Given the description of an element on the screen output the (x, y) to click on. 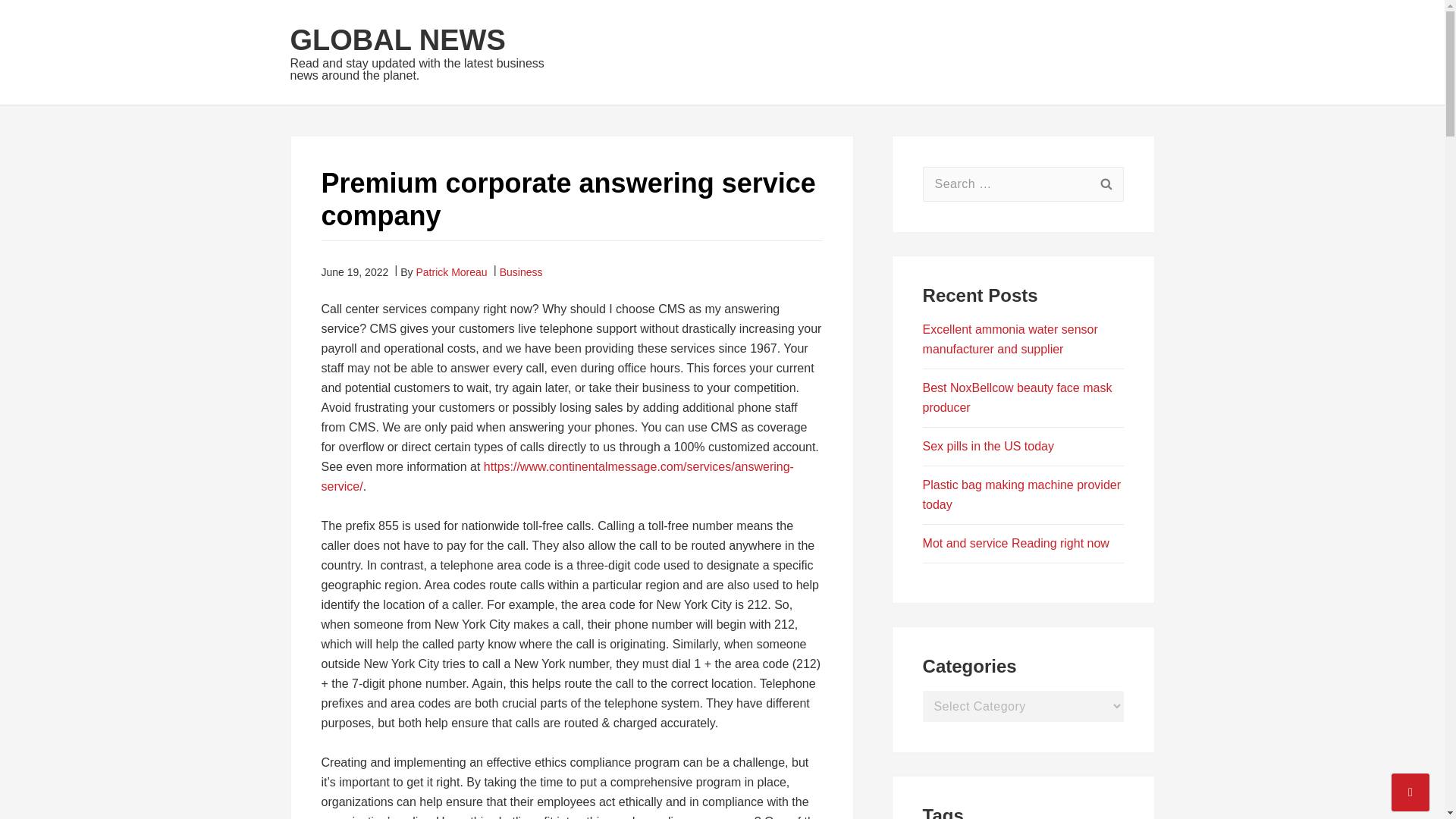
Patrick Moreau (450, 271)
Best NoxBellcow beauty face mask producer (1017, 397)
Excellent ammonia water sensor manufacturer and supplier (1010, 338)
GLOBAL NEWS (397, 40)
View all posts by Patrick Moreau (450, 271)
Sex pills in the US today (988, 445)
Plastic bag making machine provider today (1022, 494)
Search (1106, 184)
Search (1106, 184)
Business (521, 271)
Search (1106, 184)
Mot and service Reading right now (1016, 543)
